Given the description of an element on the screen output the (x, y) to click on. 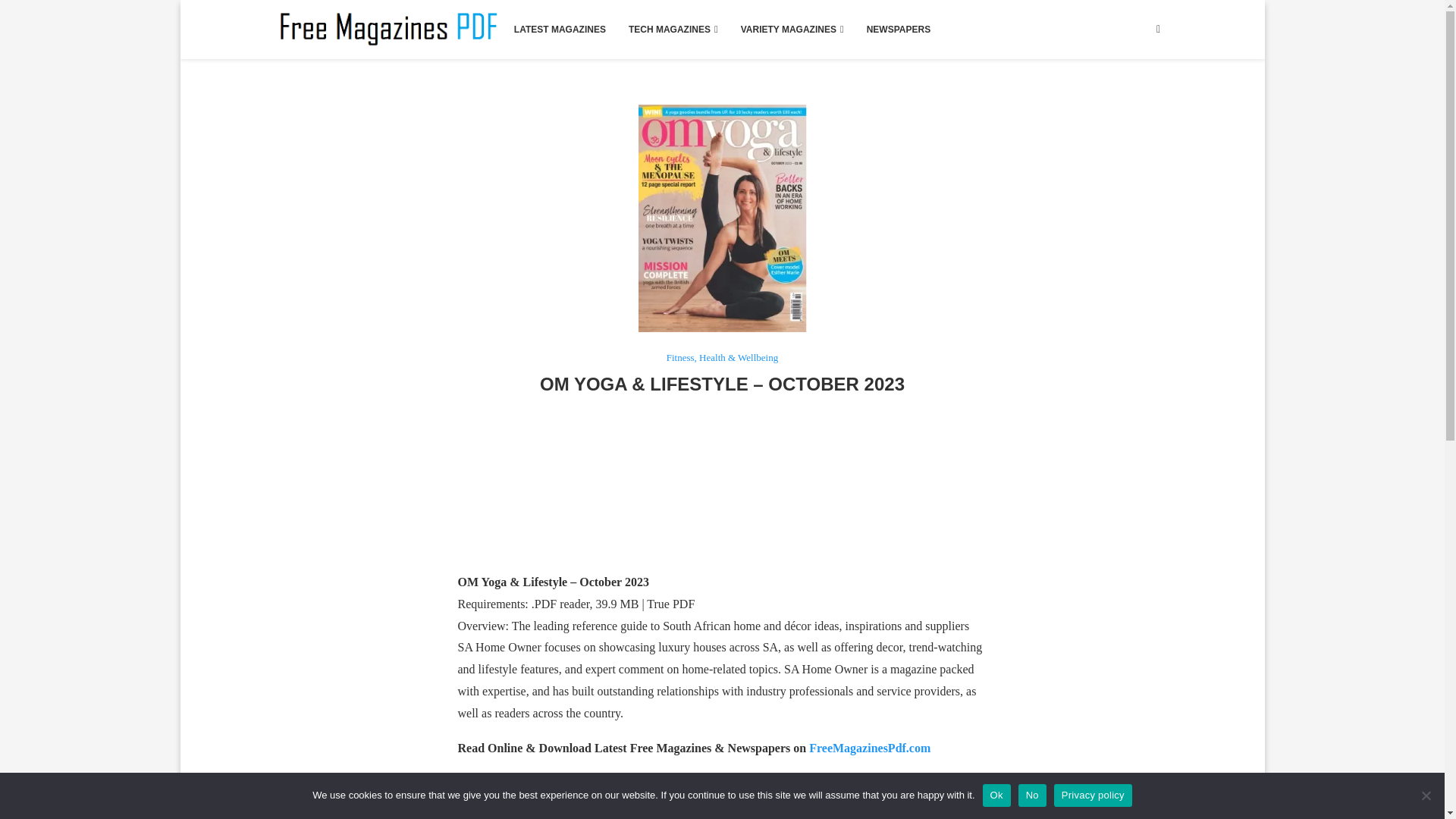
OM-Yoga-Lifestyle-October-2023 (722, 218)
Advertisement (1138, 331)
Advertisement (304, 331)
Advertisement (722, 482)
No (1425, 795)
LATEST MAGAZINES (559, 29)
